Given the description of an element on the screen output the (x, y) to click on. 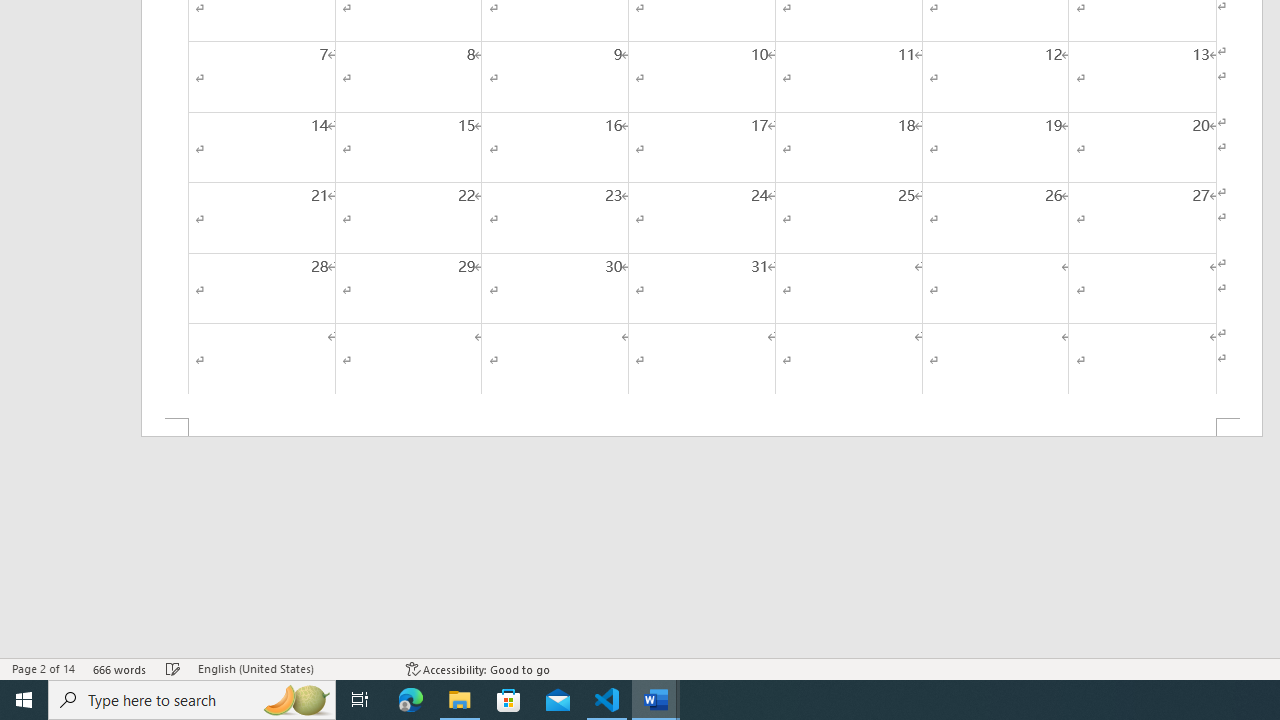
Page Number Page 2 of 14 (43, 668)
